Given the description of an element on the screen output the (x, y) to click on. 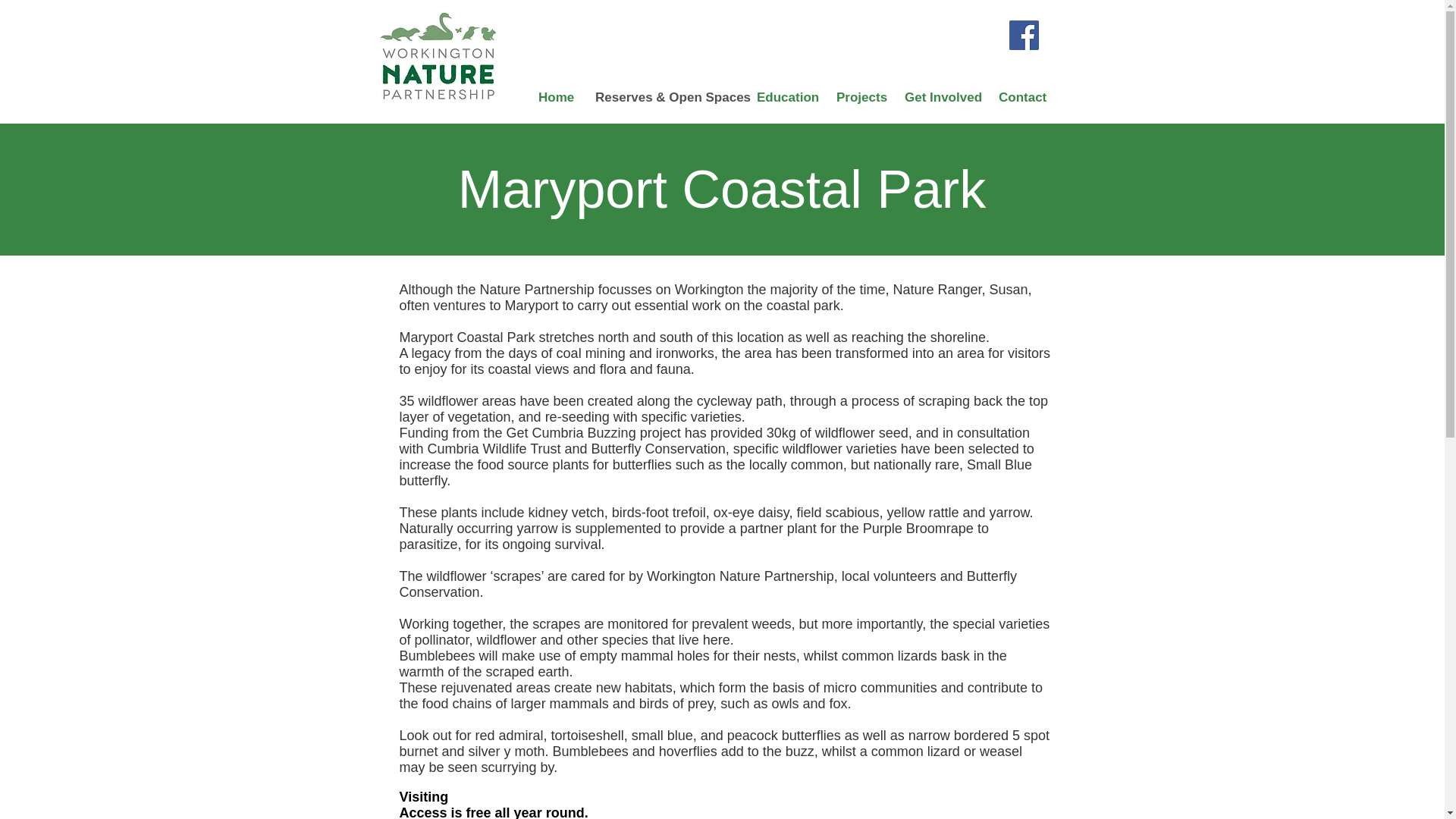
Education (785, 97)
Get Involved (940, 97)
Contact (1021, 97)
Projects (859, 97)
Home (555, 97)
